Given the description of an element on the screen output the (x, y) to click on. 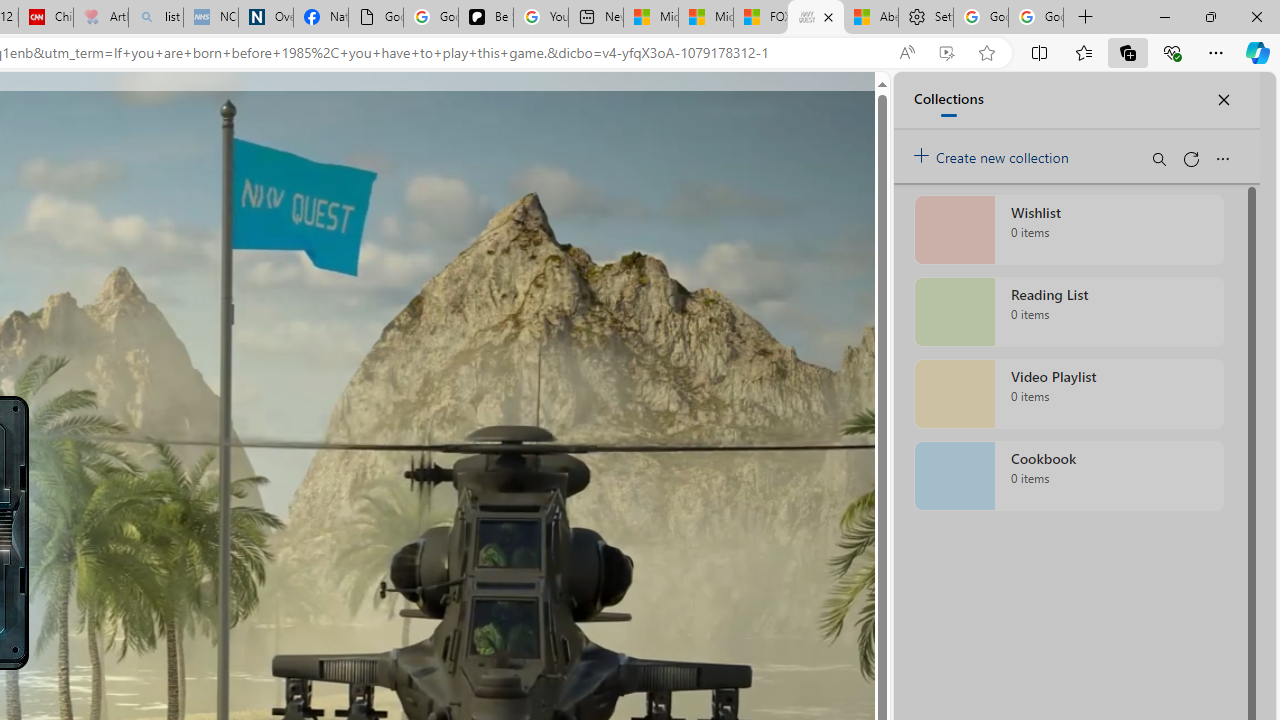
NCL Adult Asthma Inhaler Choice Guideline - Sleeping (211, 17)
Split screen (1039, 52)
Arthritis: Ask Health Professionals - Sleeping (100, 17)
Google Analytics Opt-out Browser Add-on Download Page (376, 17)
Settings and more (Alt+F) (1215, 52)
Microsoft Start (705, 17)
Minimize (1164, 16)
Navy Quest (815, 17)
Add this page to favorites (Ctrl+D) (986, 53)
Aberdeen, Hong Kong SAR hourly forecast | Microsoft Weather (870, 17)
Enhance video (946, 53)
list of asthma inhalers uk - Search - Sleeping (156, 17)
